Given the description of an element on the screen output the (x, y) to click on. 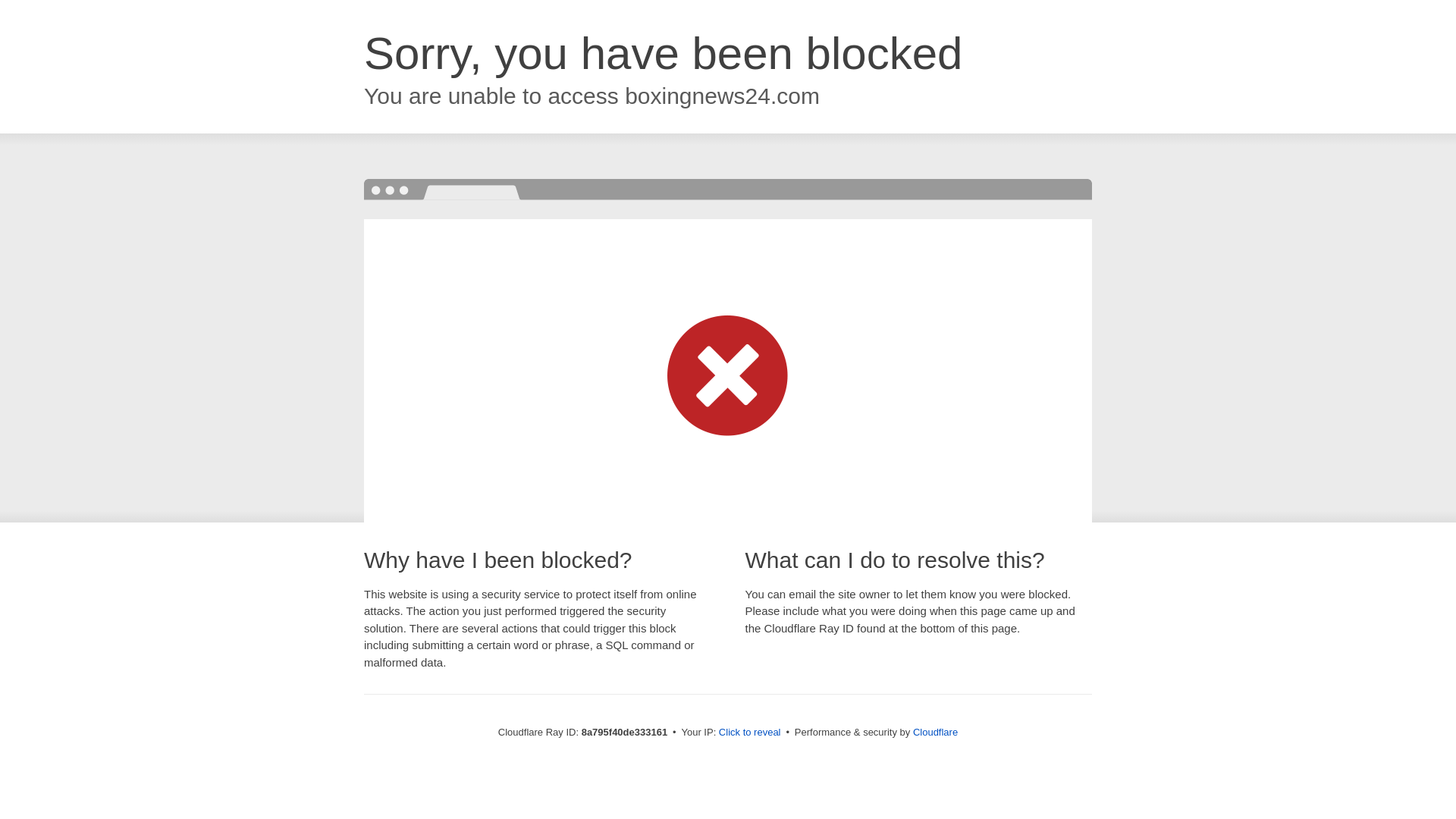
Cloudflare (935, 731)
Click to reveal (749, 732)
